Given the description of an element on the screen output the (x, y) to click on. 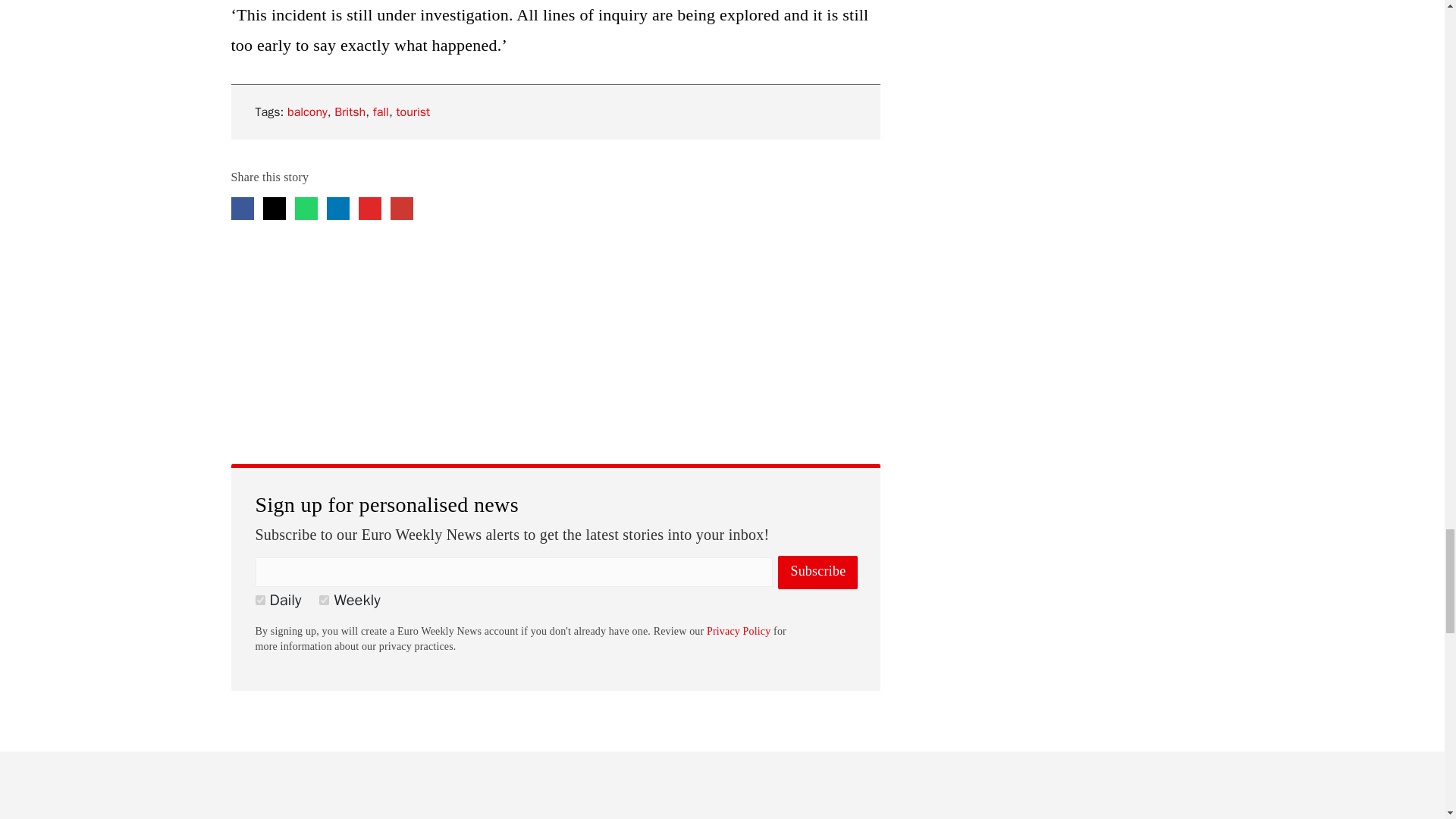
Subscribe (817, 572)
6 (259, 600)
7 (323, 600)
